Given the description of an element on the screen output the (x, y) to click on. 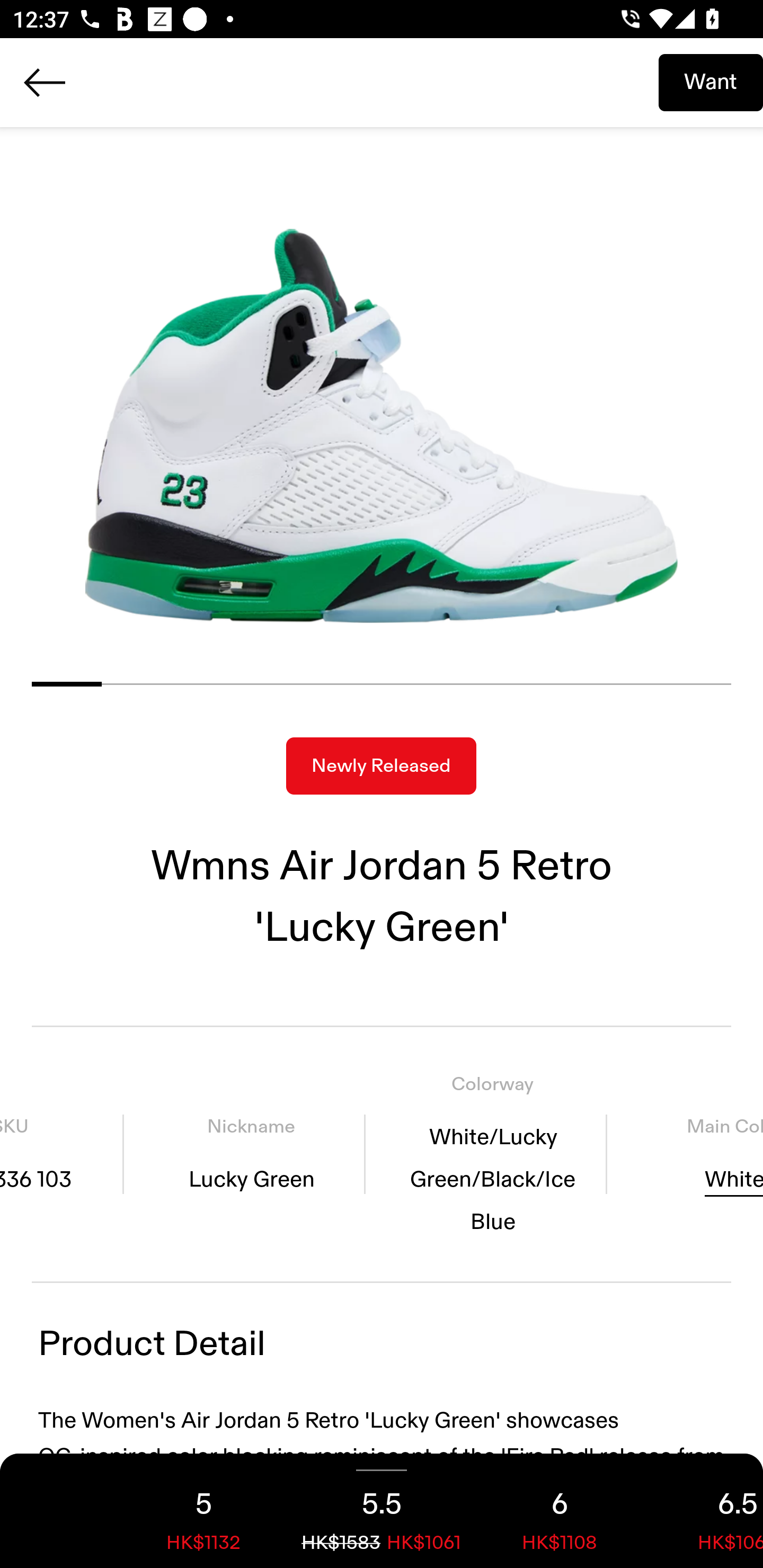
Want (710, 82)
Newly Released (381, 765)
SKU DD9336 103 (61, 1153)
Nickname Lucky Green (250, 1153)
Colorway White/Lucky Green/Black/Ice Blue (492, 1153)
Main Color White (691, 1153)
5 HK$1132 (203, 1510)
5.5 HK$1583 HK$1061 (381, 1510)
6 HK$1108 (559, 1510)
6.5 HK$1068 (705, 1510)
